Given the description of an element on the screen output the (x, y) to click on. 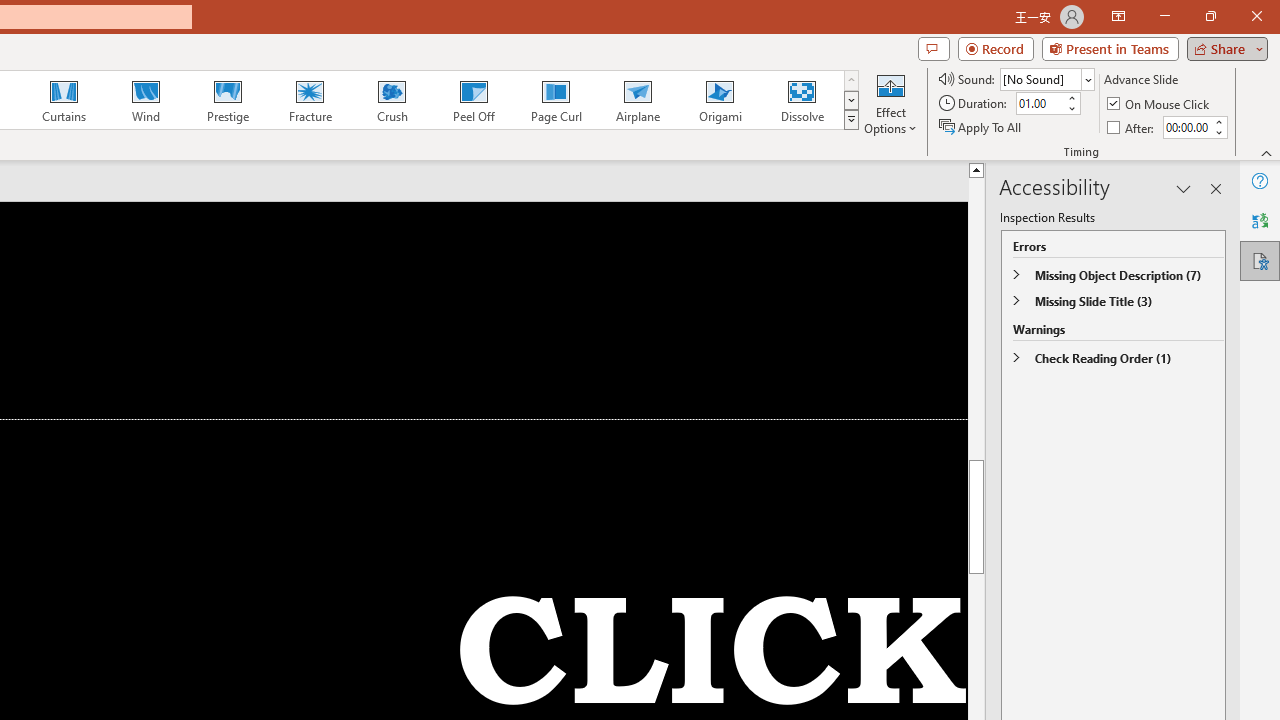
Peel Off (473, 100)
After (1186, 127)
Page Curl (555, 100)
Airplane (637, 100)
Wind (145, 100)
Transition Effects (850, 120)
Duration (1039, 103)
Apply To All (981, 126)
Less (1218, 132)
